Given the description of an element on the screen output the (x, y) to click on. 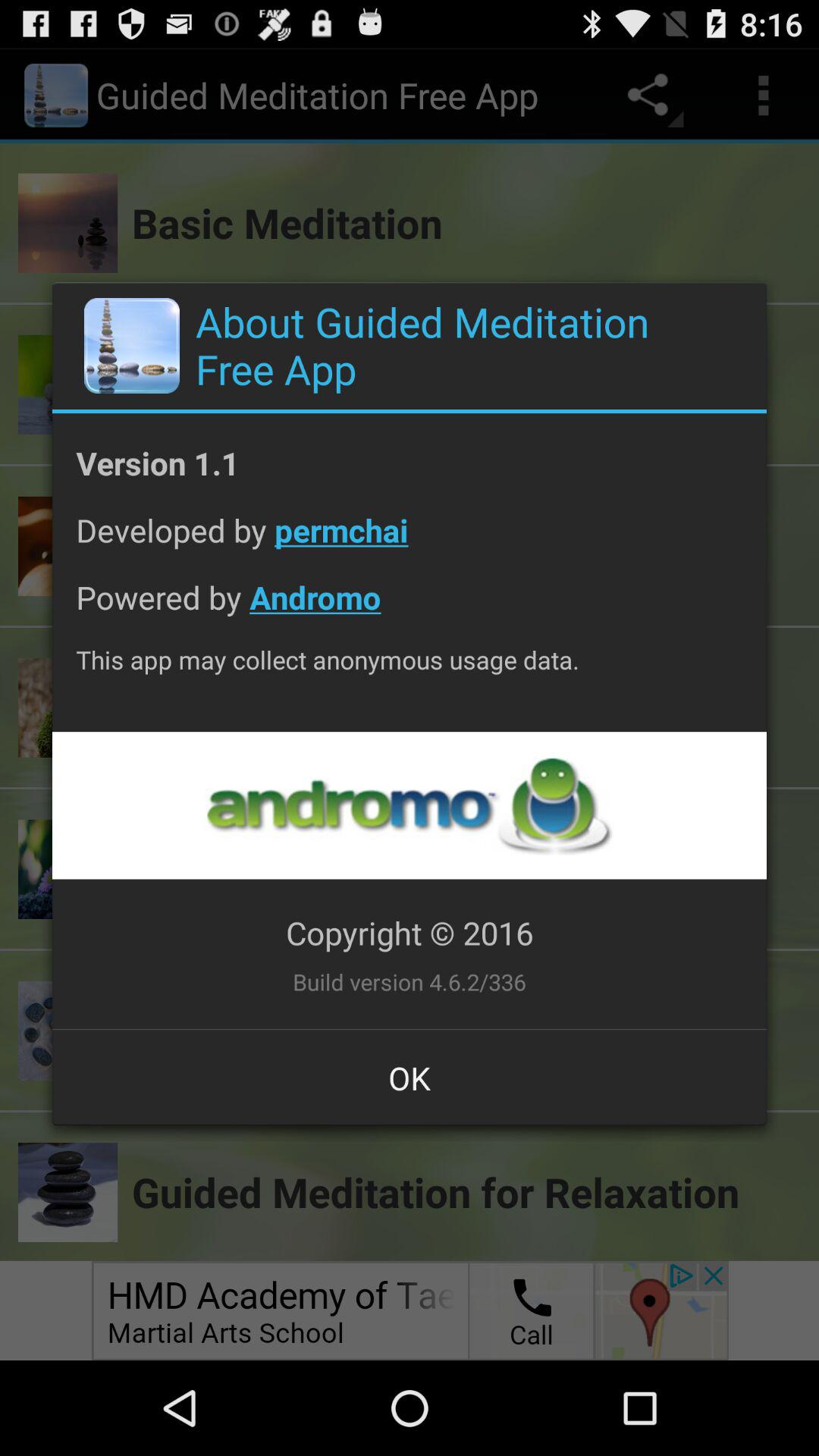
click item below build version 4 item (409, 1077)
